Given the description of an element on the screen output the (x, y) to click on. 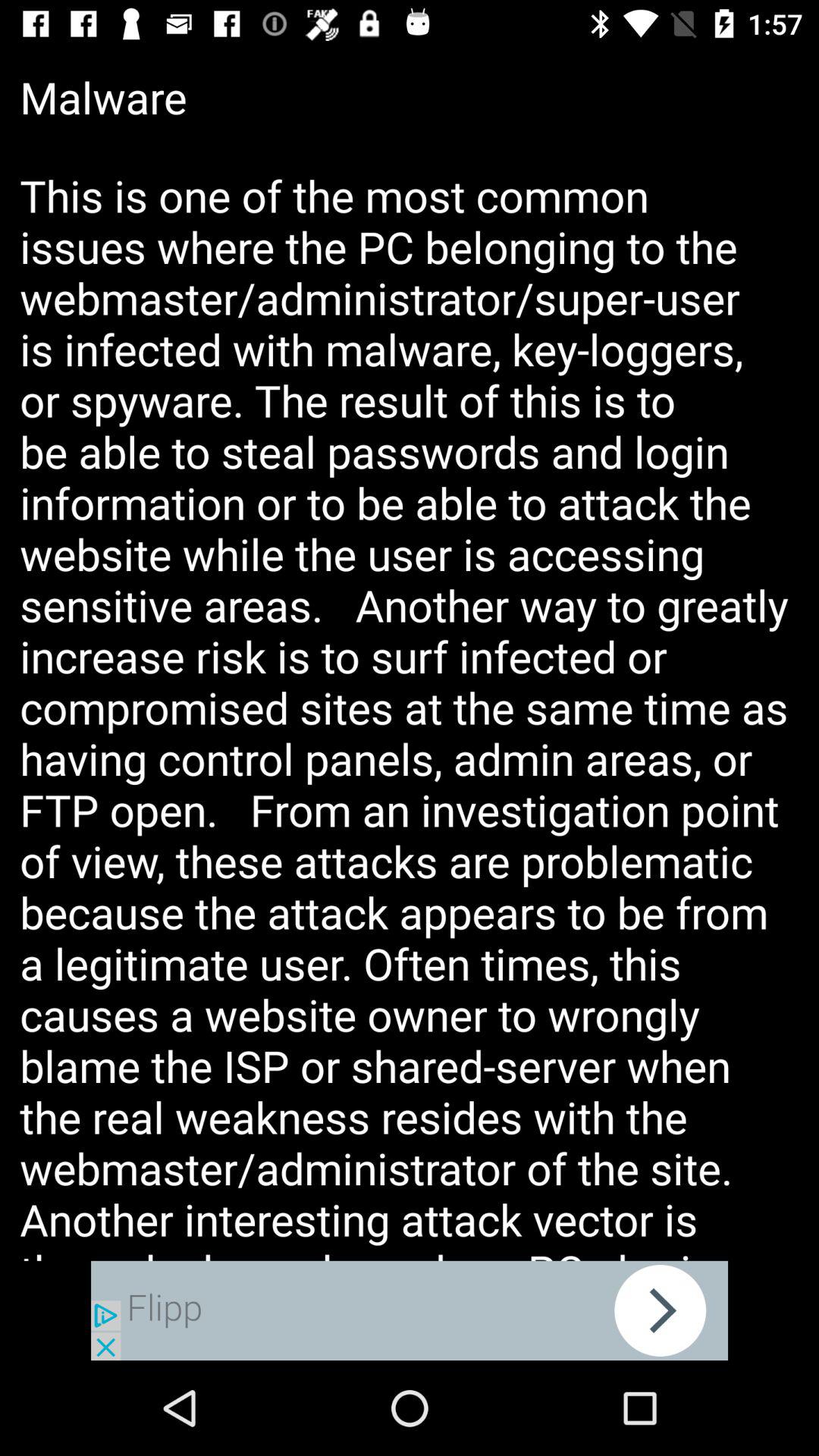
adsence (409, 1310)
